Given the description of an element on the screen output the (x, y) to click on. 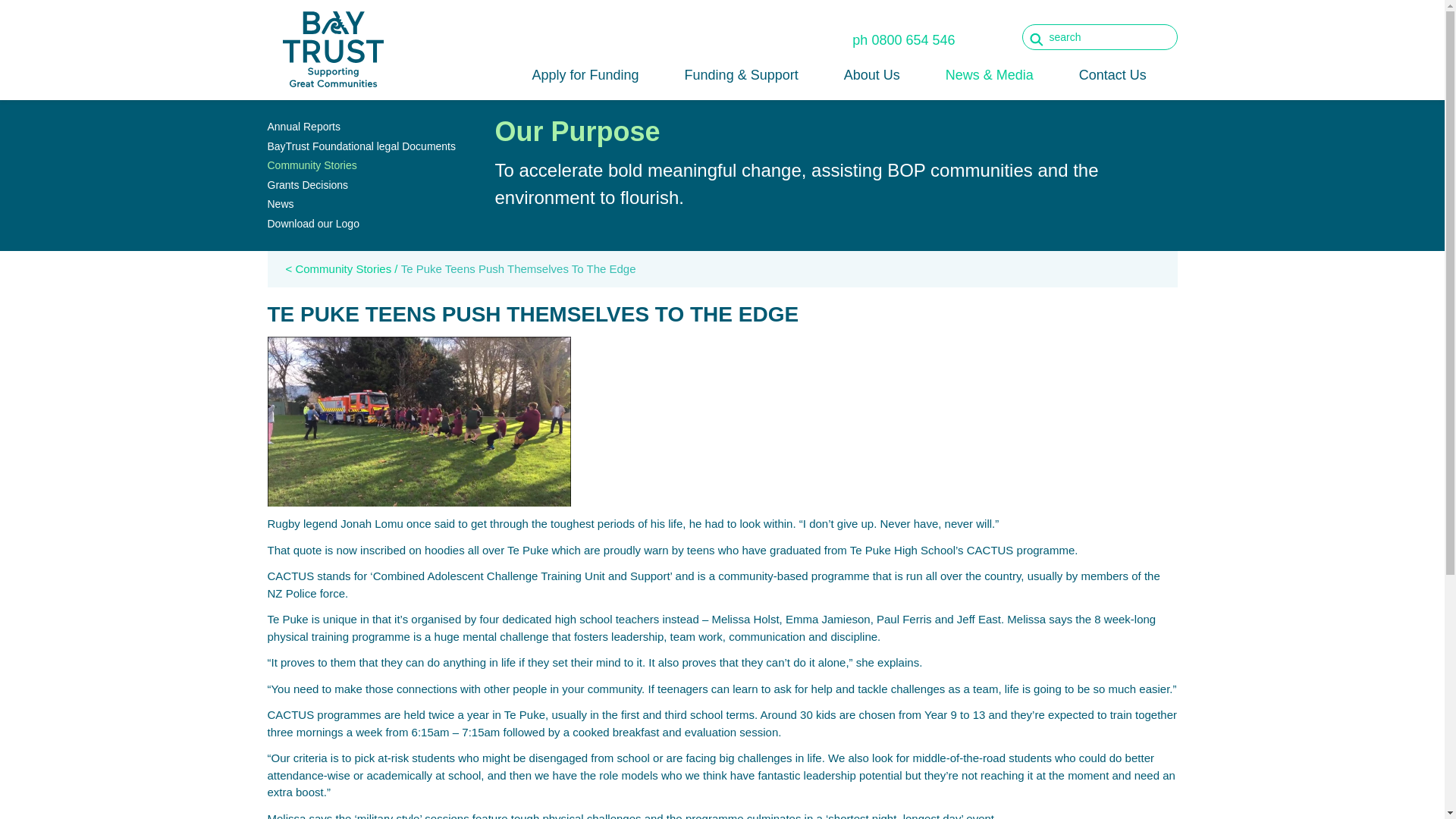
search (1099, 36)
Apply for Funding (584, 80)
About Us (871, 80)
0800 654 546 (912, 39)
Back to Listing Page (341, 268)
